Given the description of an element on the screen output the (x, y) to click on. 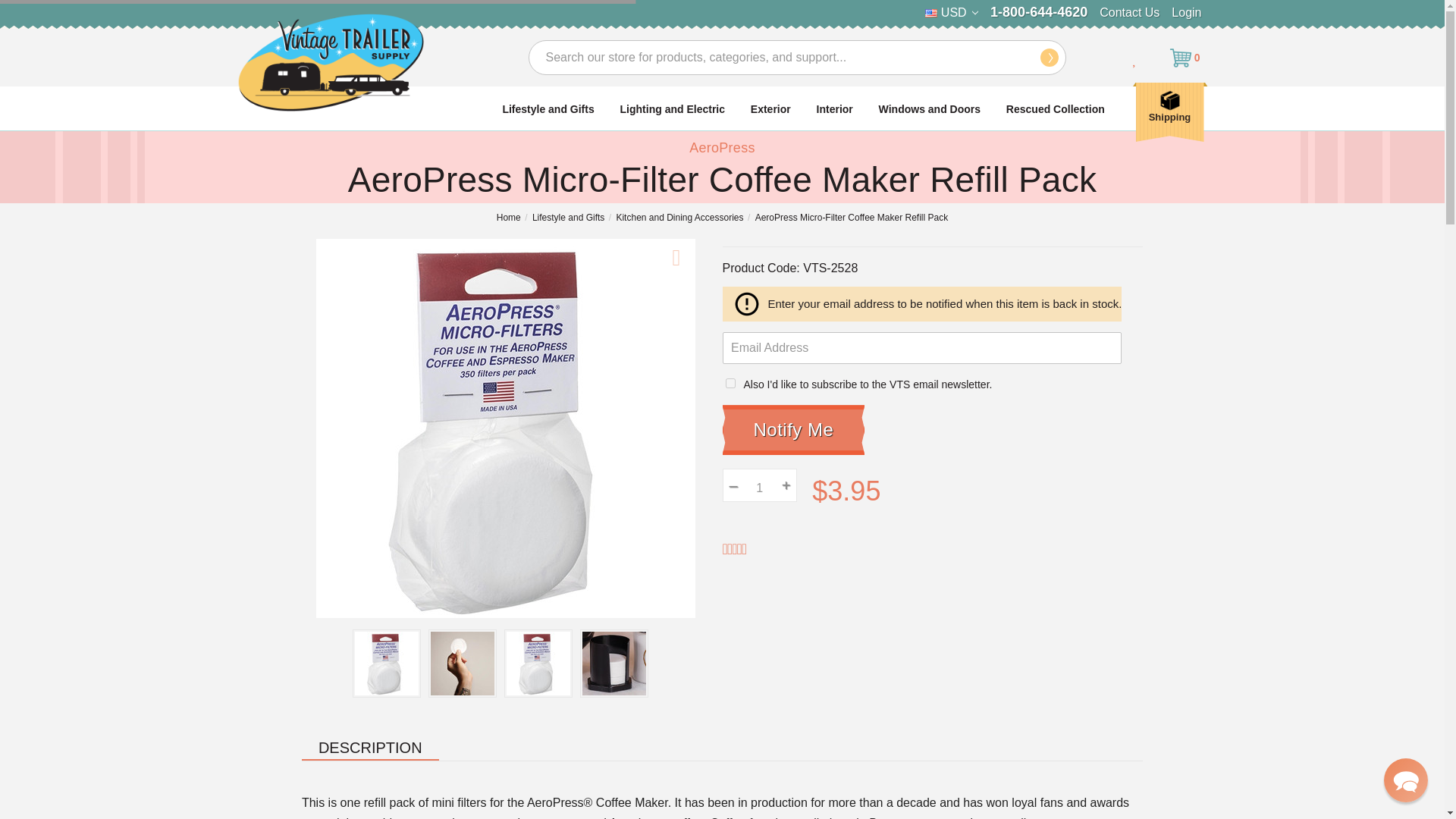
View Cart (1188, 56)
search (1049, 57)
Notify Me (793, 429)
Contact Us (1128, 12)
Login (1186, 12)
1 (760, 485)
AeroPress Micro-Filter Coffee Maker Refill Pack (614, 663)
AeroPress Micro-Filter Coffee Maker Refill Pack (387, 663)
0 (1188, 56)
AeroPress Micro-Filter Coffee Maker Refill Pack (462, 663)
1-800-644-4620 (1038, 11)
AeroPress Micro-Filter Coffee Maker Refill Pack (538, 663)
USD (951, 12)
on (730, 383)
